Given the description of an element on the screen output the (x, y) to click on. 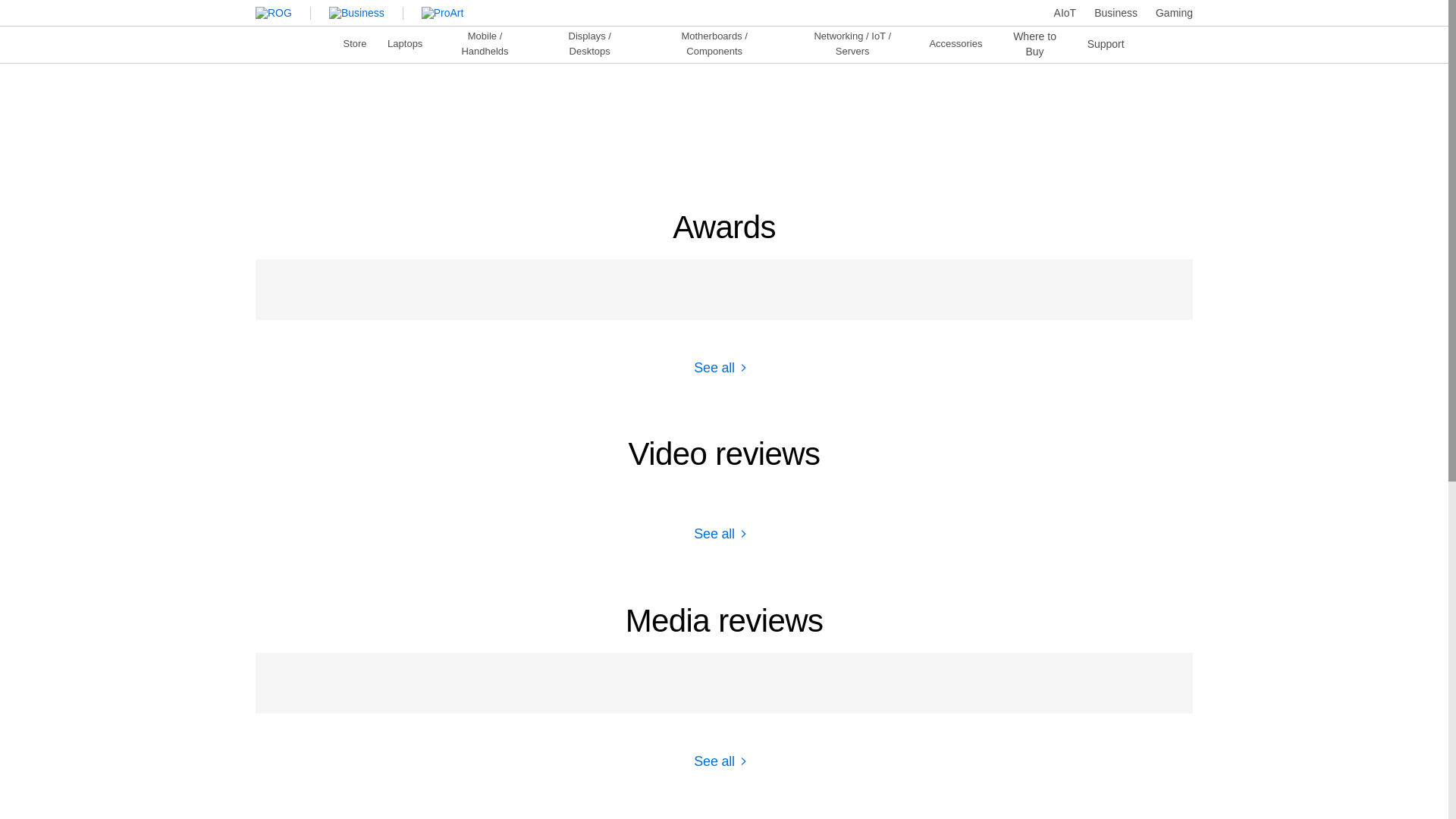
Store (354, 43)
AIoT (1065, 12)
Business (1115, 12)
